Given the description of an element on the screen output the (x, y) to click on. 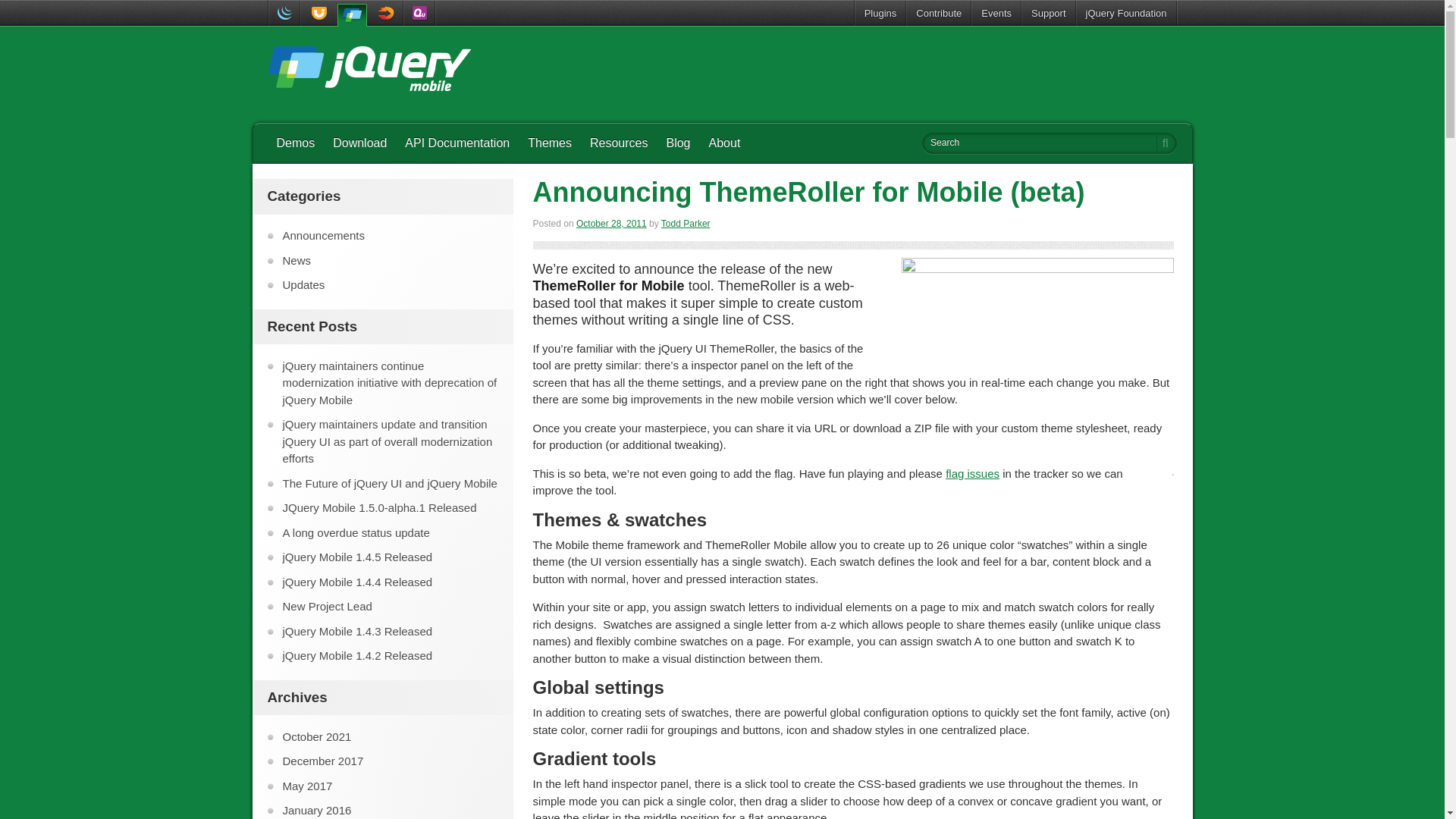
Download (359, 143)
Sizzle (387, 12)
jQuery Mobile (368, 70)
QUnit (418, 12)
jQuery Mobile (368, 70)
8:24 am (611, 223)
jQuery Mobile (351, 13)
View all posts by Todd Parker (685, 223)
Events (996, 12)
Blog (678, 143)
About (724, 143)
QUnit (418, 12)
Support (1048, 12)
Sizzle (387, 12)
